Given the description of an element on the screen output the (x, y) to click on. 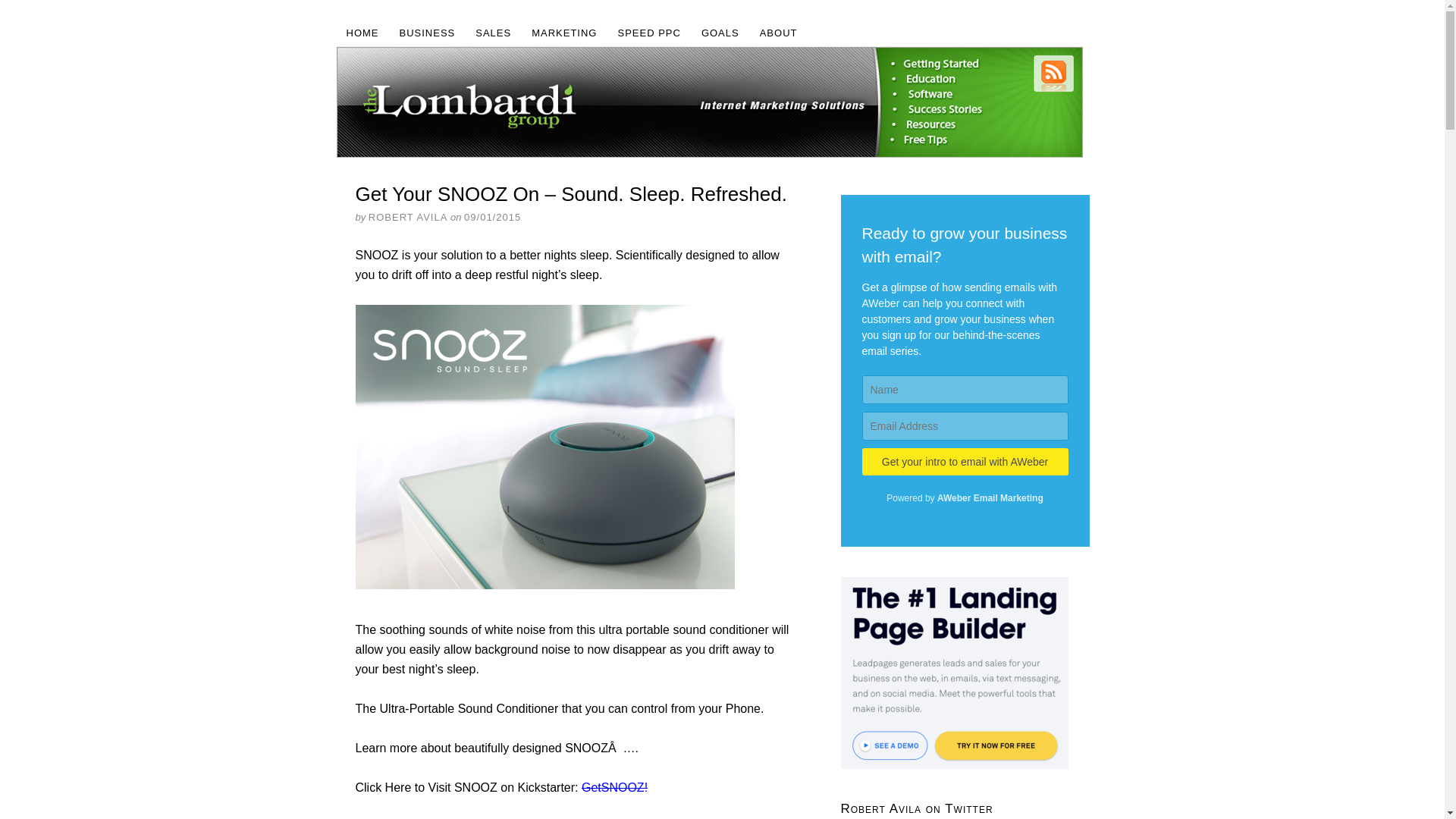
Get your intro to email with AWeber (964, 461)
MARKETING (564, 32)
ABOUT (778, 32)
AWeber Email Marketing (964, 498)
HOME (363, 32)
SPEED PPC (648, 32)
SALES (493, 32)
GetSNOOZ! (613, 787)
GOALS (720, 32)
BUSINESS (427, 32)
click to return home (708, 101)
2015-09-01 (492, 215)
